Given the description of an element on the screen output the (x, y) to click on. 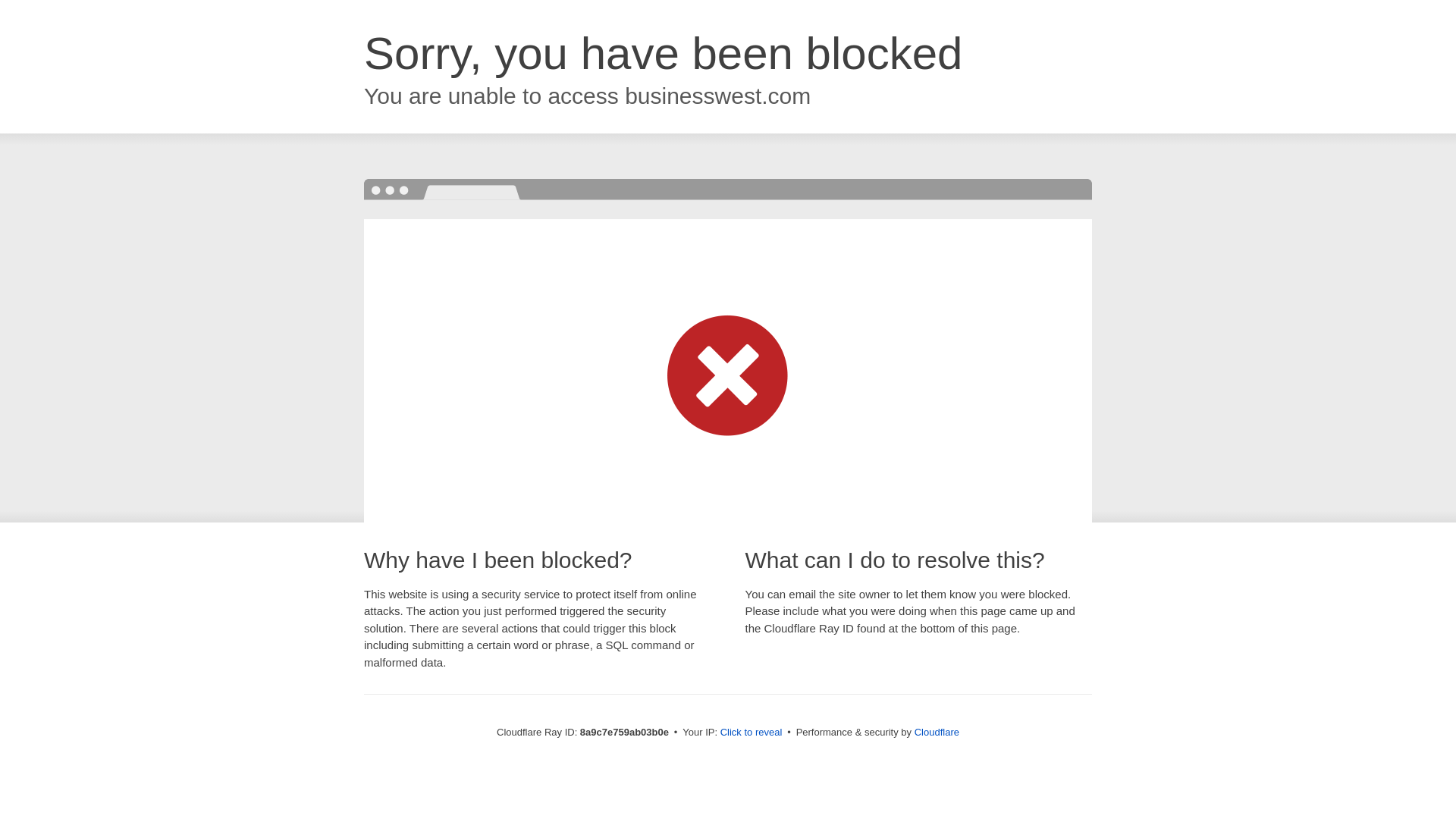
Click to reveal (751, 732)
Cloudflare (936, 731)
